Given the description of an element on the screen output the (x, y) to click on. 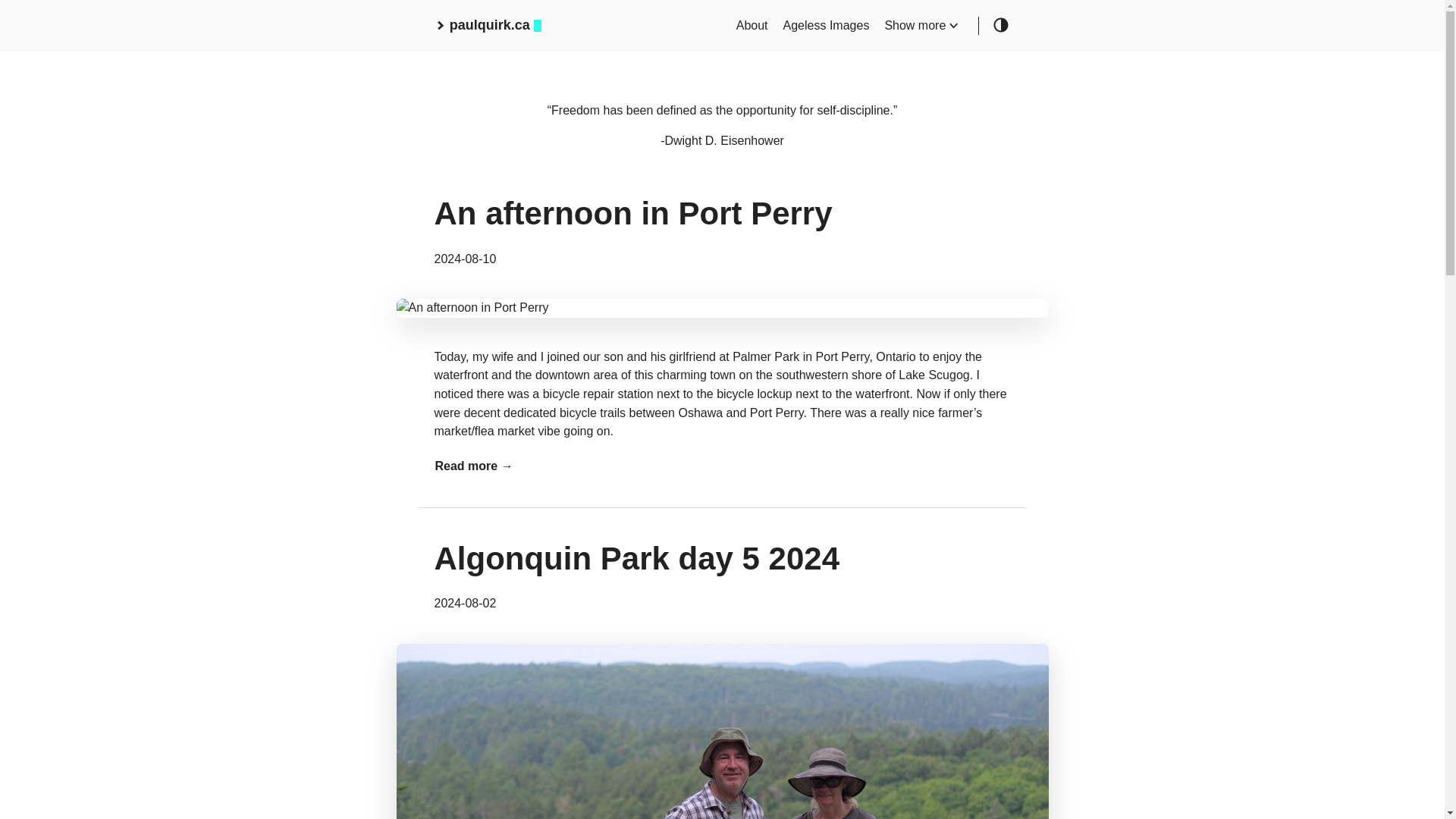
Algonquin Park day 5 2024 (636, 558)
Ageless Images (826, 24)
About (752, 24)
An afternoon in Port Perry (632, 212)
paulquirk.ca (486, 25)
